Given the description of an element on the screen output the (x, y) to click on. 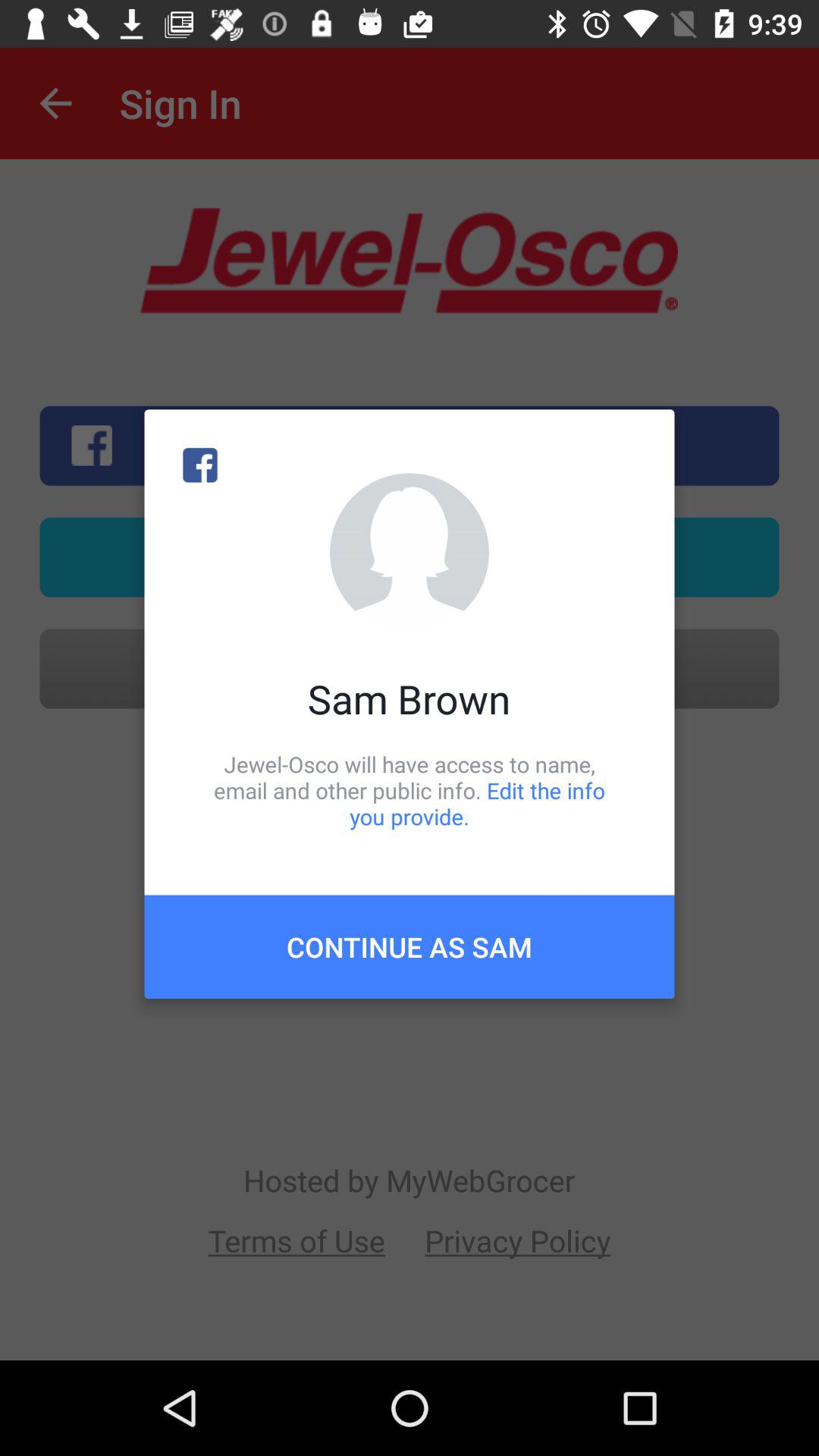
select the jewel osco will icon (409, 790)
